Given the description of an element on the screen output the (x, y) to click on. 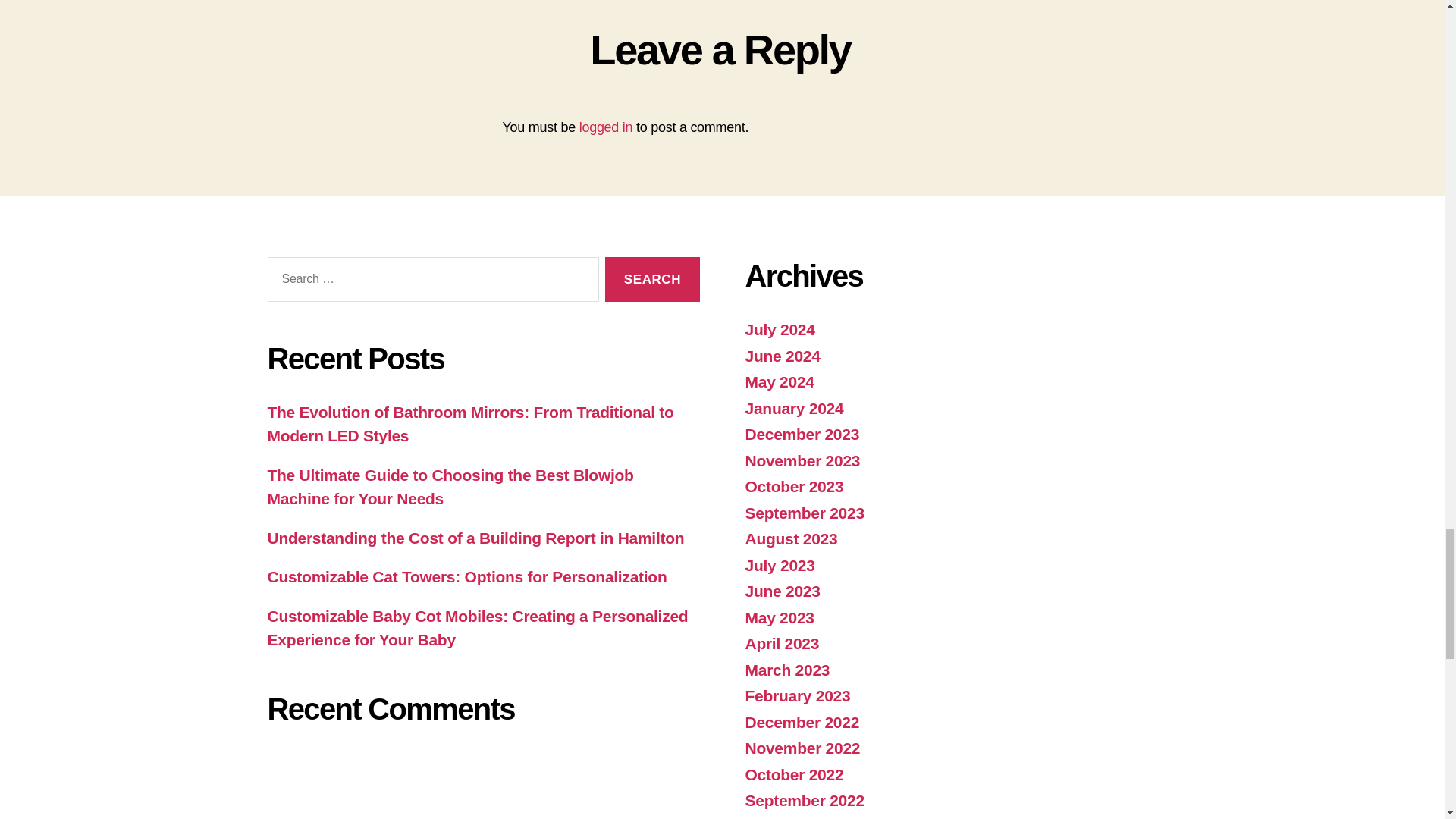
July 2023 (778, 565)
November 2023 (802, 460)
September 2023 (803, 512)
May 2024 (778, 381)
August 2023 (790, 538)
Search (651, 279)
December 2023 (801, 434)
July 2024 (778, 329)
Search (651, 279)
